Given the description of an element on the screen output the (x, y) to click on. 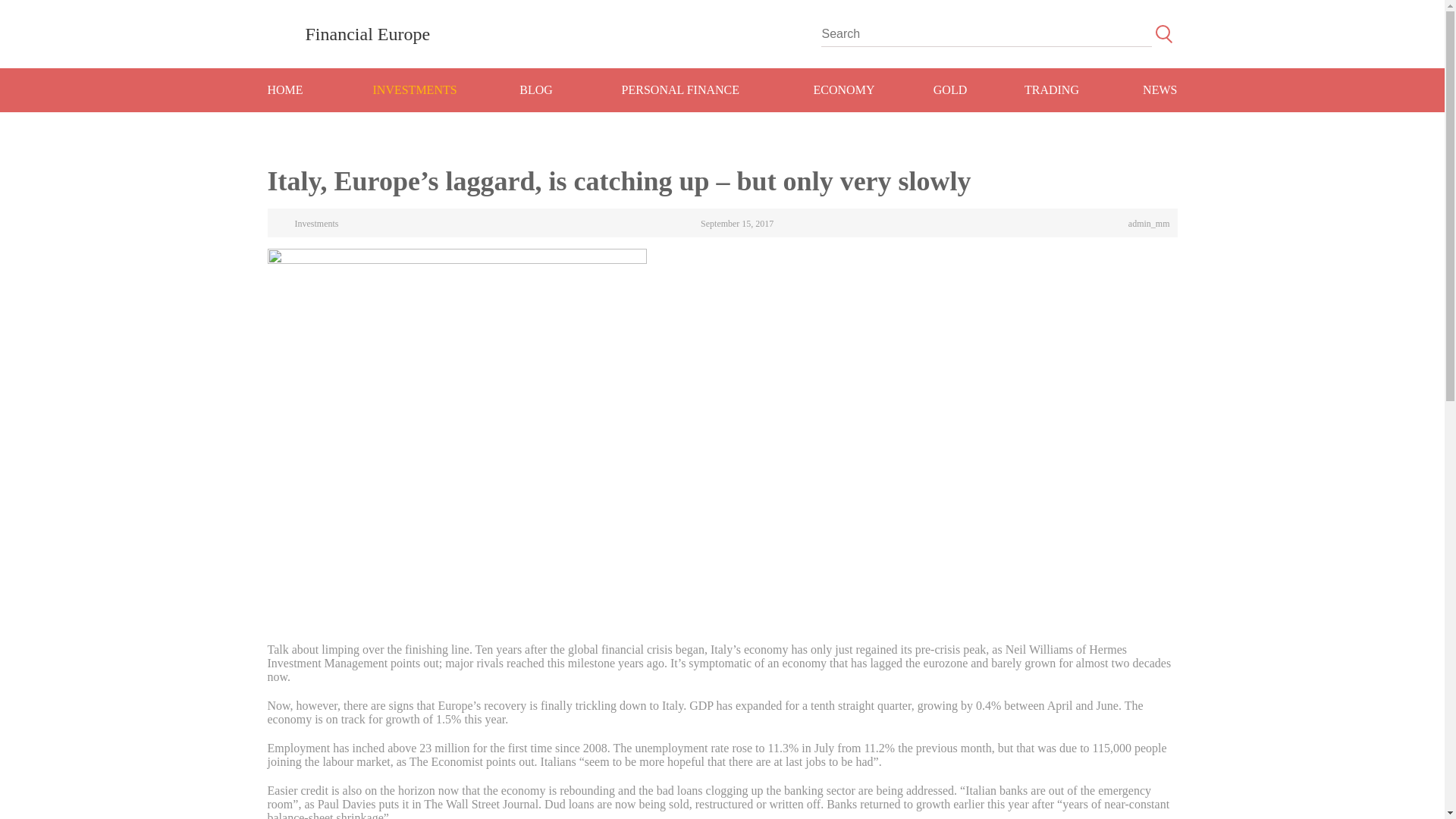
Search (1163, 33)
Investments (306, 223)
TRADING (1051, 89)
Financial Europe (347, 33)
HOME (301, 89)
11:39 pm (727, 223)
PERSONAL FINANCE (680, 89)
INVESTMENTS (414, 89)
BLOG (536, 89)
ECONOMY (844, 89)
